Given the description of an element on the screen output the (x, y) to click on. 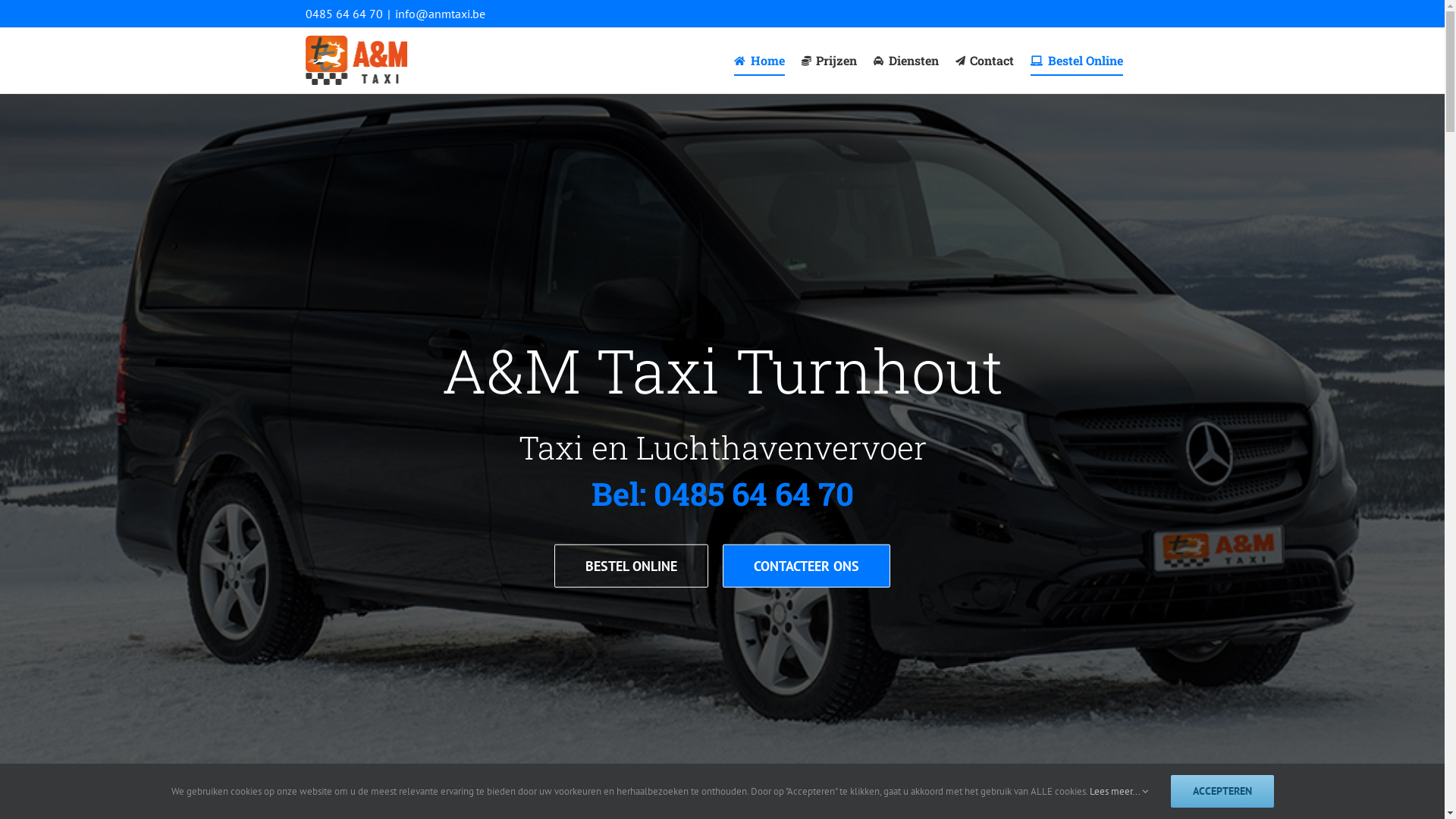
BESTEL ONLINE Element type: text (631, 564)
Bestel Online Element type: text (1076, 60)
info@anmtaxi.be Element type: text (439, 13)
Lees meer... Element type: text (1117, 790)
CONTACTEER ONS Element type: text (806, 564)
Prijzen Element type: text (828, 60)
Bel: 0485 64 64 70 Element type: text (722, 493)
Home Element type: text (759, 60)
Contact Element type: text (984, 60)
Diensten Element type: text (905, 60)
ACCEPTEREN Element type: text (1222, 791)
